Given the description of an element on the screen output the (x, y) to click on. 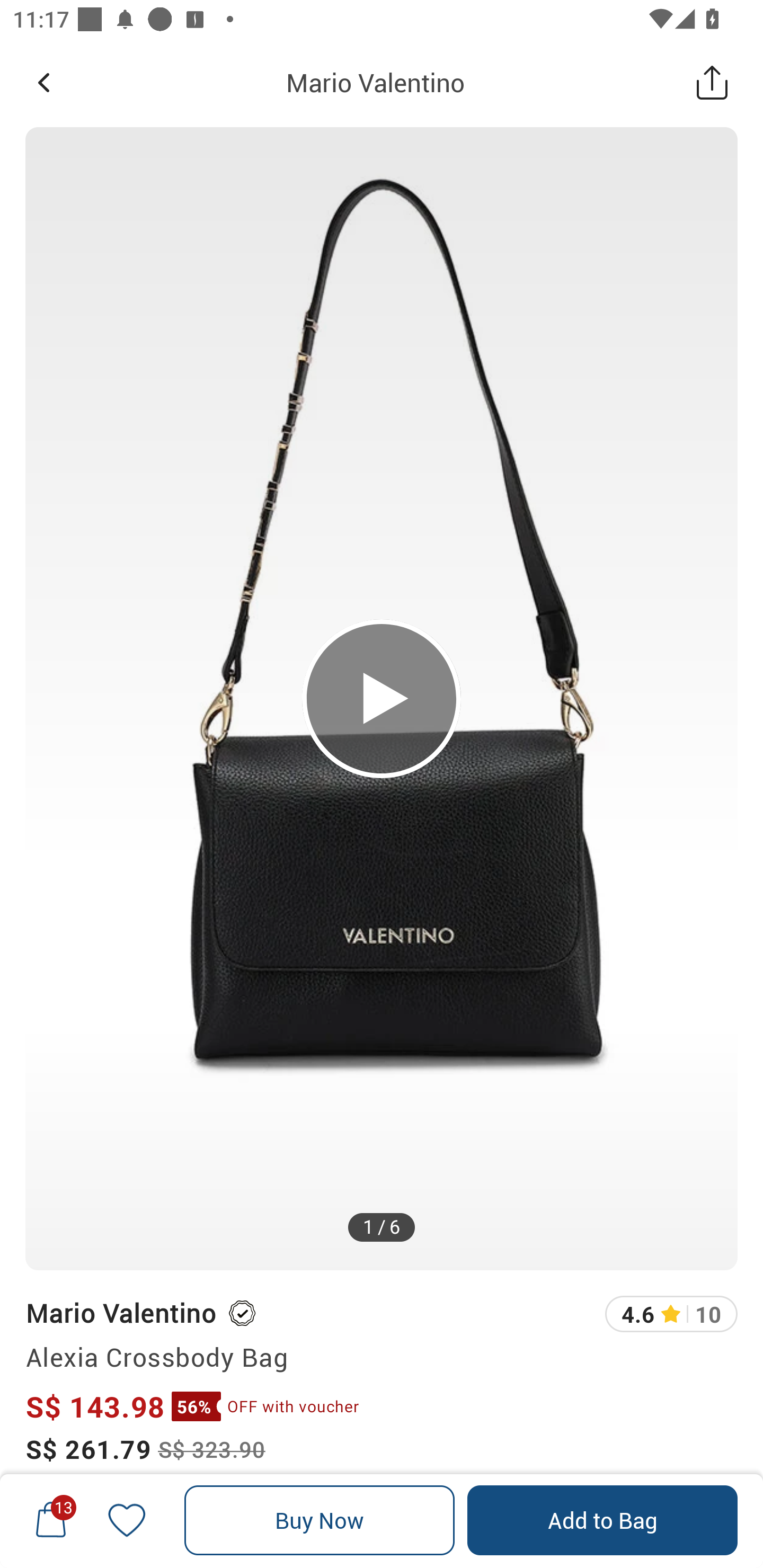
Mario Valentino (375, 82)
Share this Product (711, 82)
Mario Valentino (120, 1312)
4.6 10 (671, 1313)
Buy Now (319, 1519)
Add to Bag (601, 1519)
13 (50, 1520)
